Given the description of an element on the screen output the (x, y) to click on. 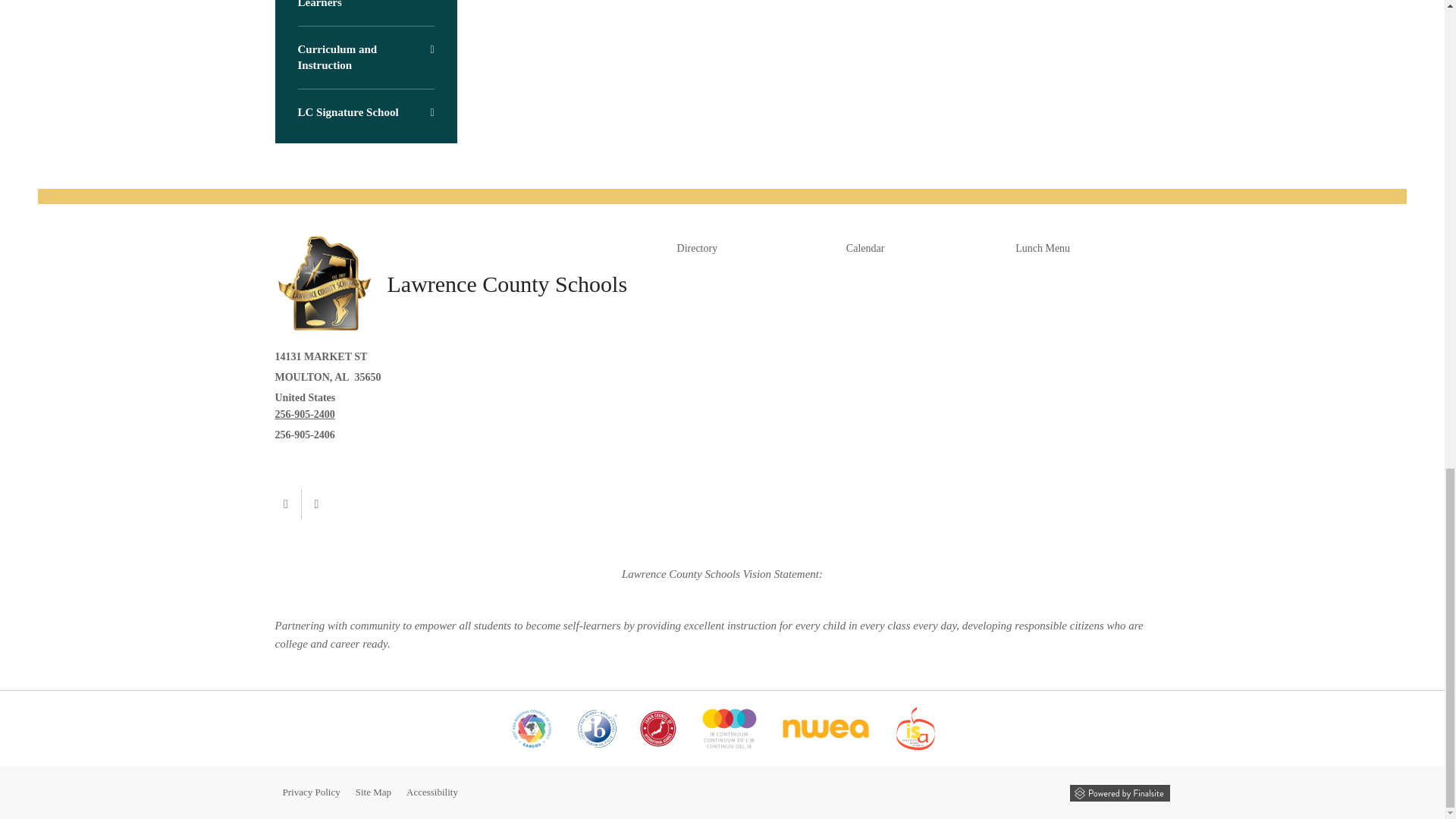
Powered by Finalsite opens in a new window (1118, 792)
